Given the description of an element on the screen output the (x, y) to click on. 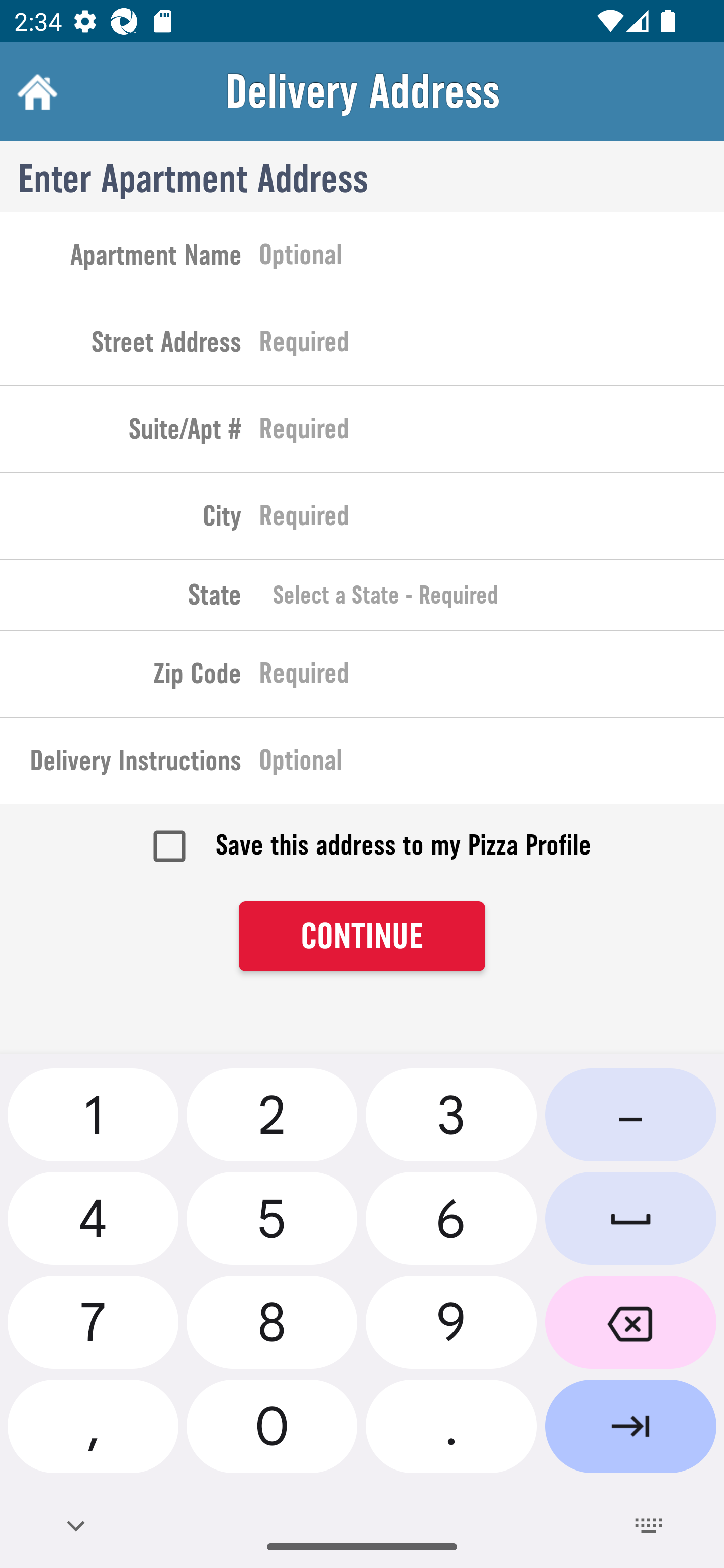
Home (35, 91)
Optional (491, 258)
Required (491, 345)
Required (491, 432)
Required (491, 519)
Select a State - Required (491, 594)
Required (491, 677)
Optional (491, 764)
CONTINUE (361, 936)
